Given the description of an element on the screen output the (x, y) to click on. 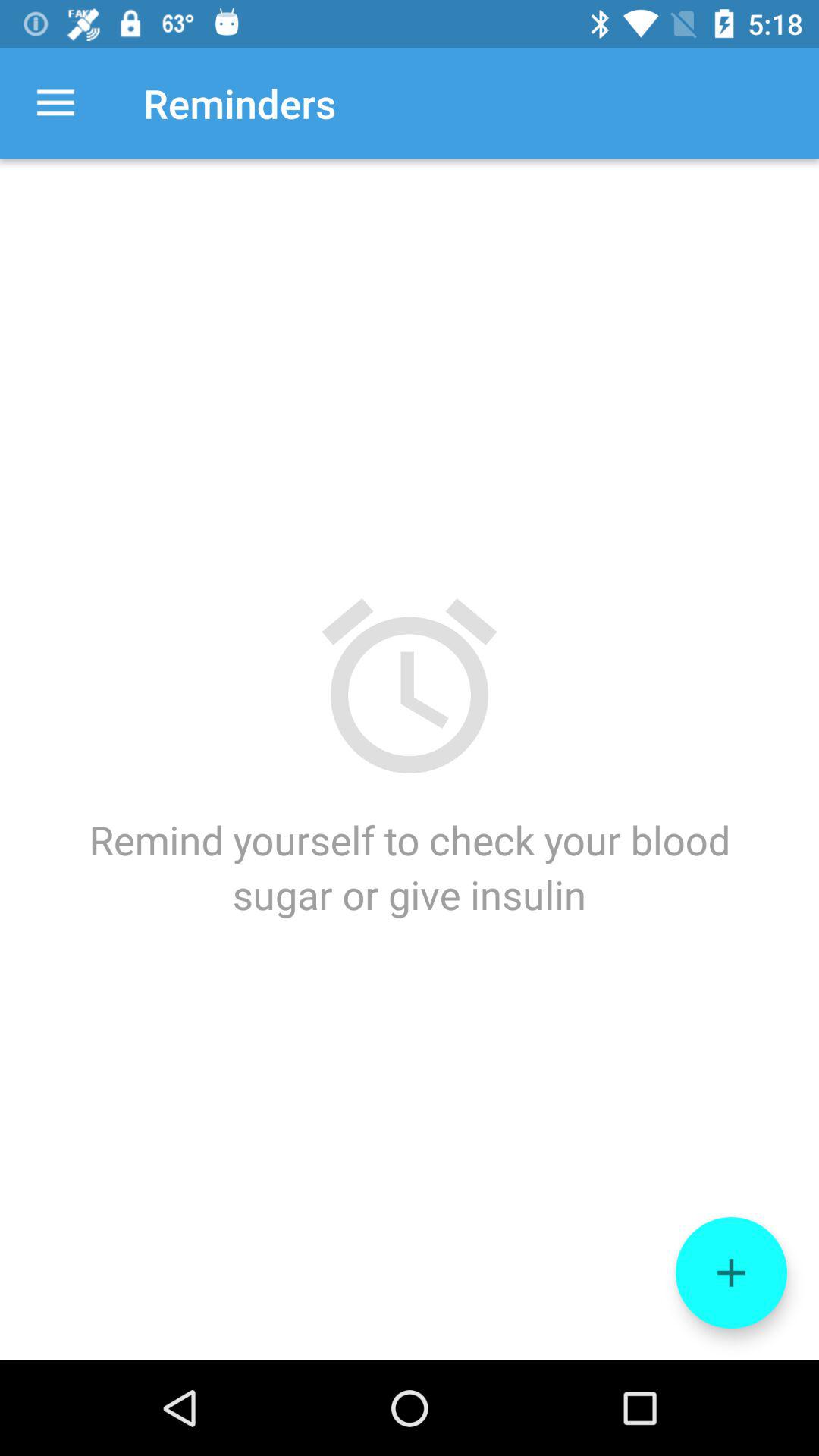
turn on the item next to the reminders item (55, 103)
